Given the description of an element on the screen output the (x, y) to click on. 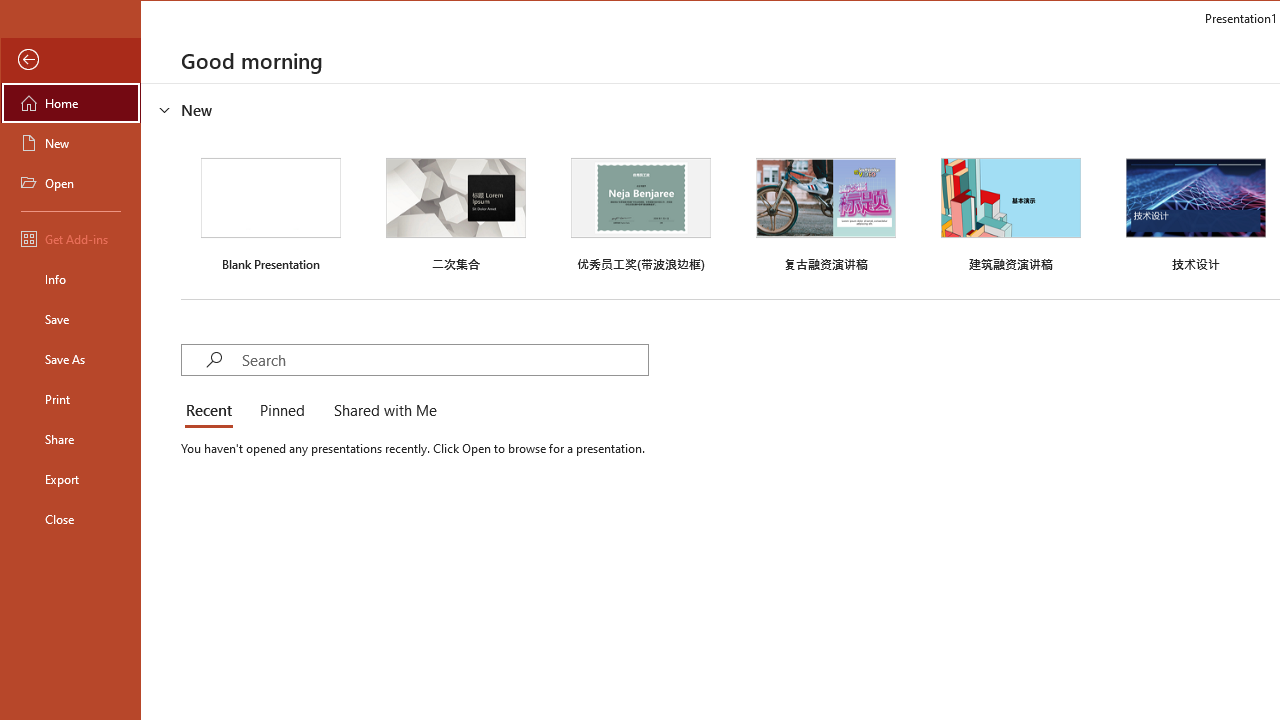
Get Add-ins (70, 238)
Shared with Me (381, 411)
Hide or show region (164, 109)
Export (70, 478)
Recent (212, 411)
Save As (70, 358)
Print (70, 398)
Info (70, 278)
